Given the description of an element on the screen output the (x, y) to click on. 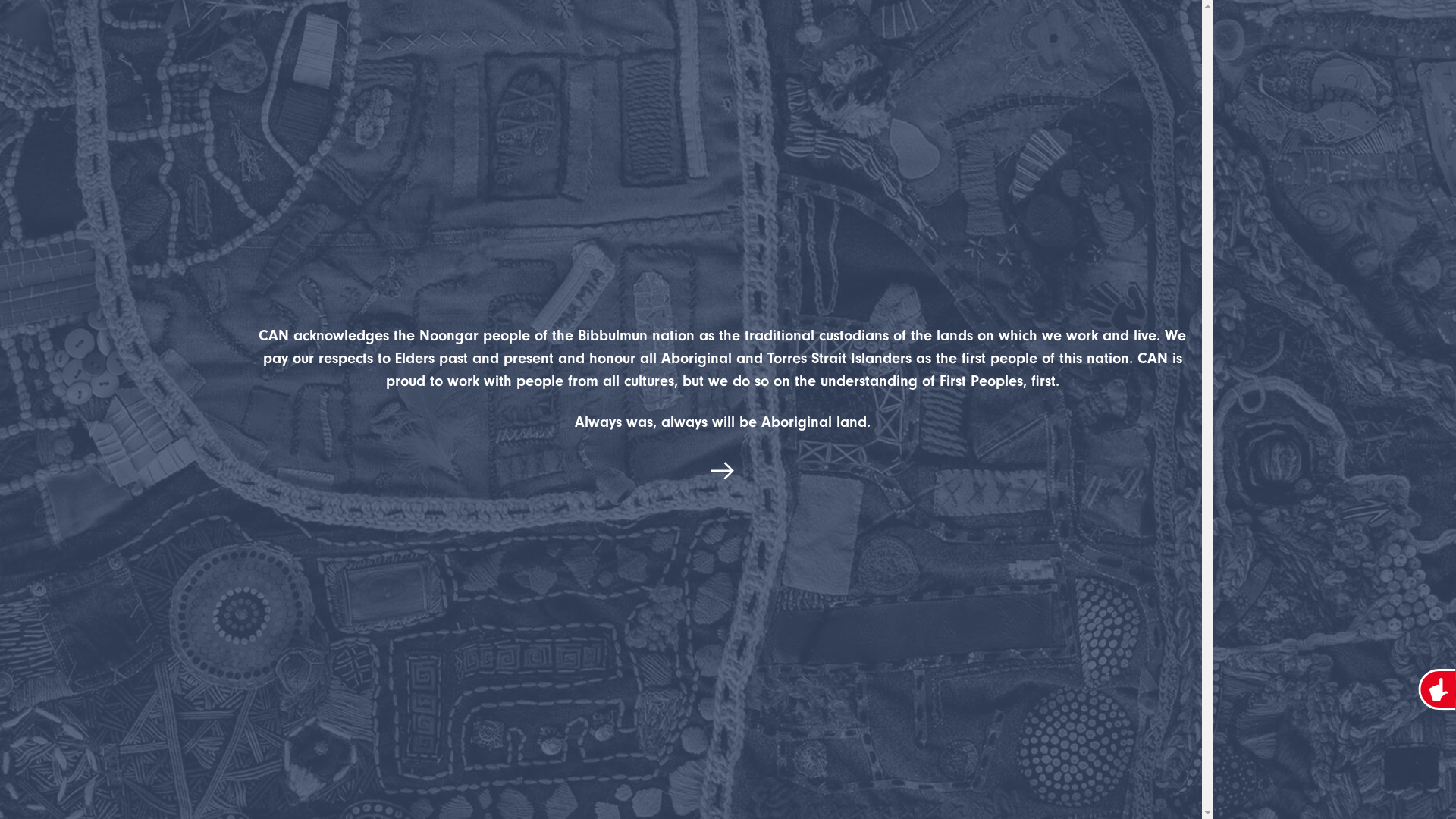
Network Element type: text (529, 37)
Return Home Element type: text (196, 533)
About Element type: text (290, 37)
Donate Element type: text (722, 37)
admin@can.org.au Element type: text (373, 427)
button Element type: text (722, 472)
Search Element type: text (629, 37)
LOG IN Element type: text (807, 37)
Arts Element type: text (456, 37)
Community Element type: text (376, 37)
